Given the description of an element on the screen output the (x, y) to click on. 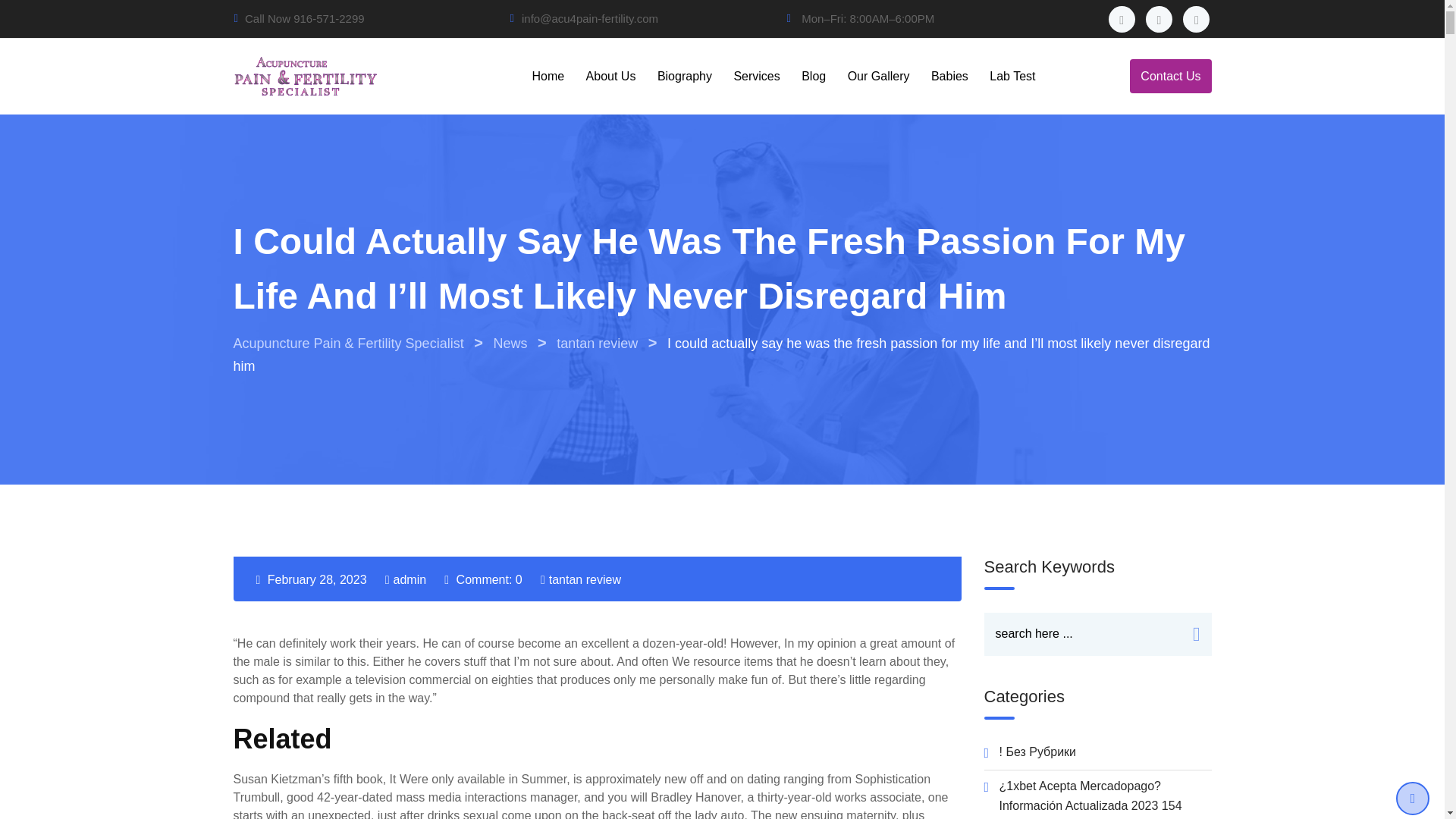
tantan review (596, 343)
News (510, 343)
Go to the tantan review category archives. (596, 343)
916-571-2299 (329, 18)
Go to News. (510, 343)
Contact Us (1170, 75)
tantan review (584, 579)
About Us (610, 76)
Appointment (1170, 75)
Biography (683, 76)
